Given the description of an element on the screen output the (x, y) to click on. 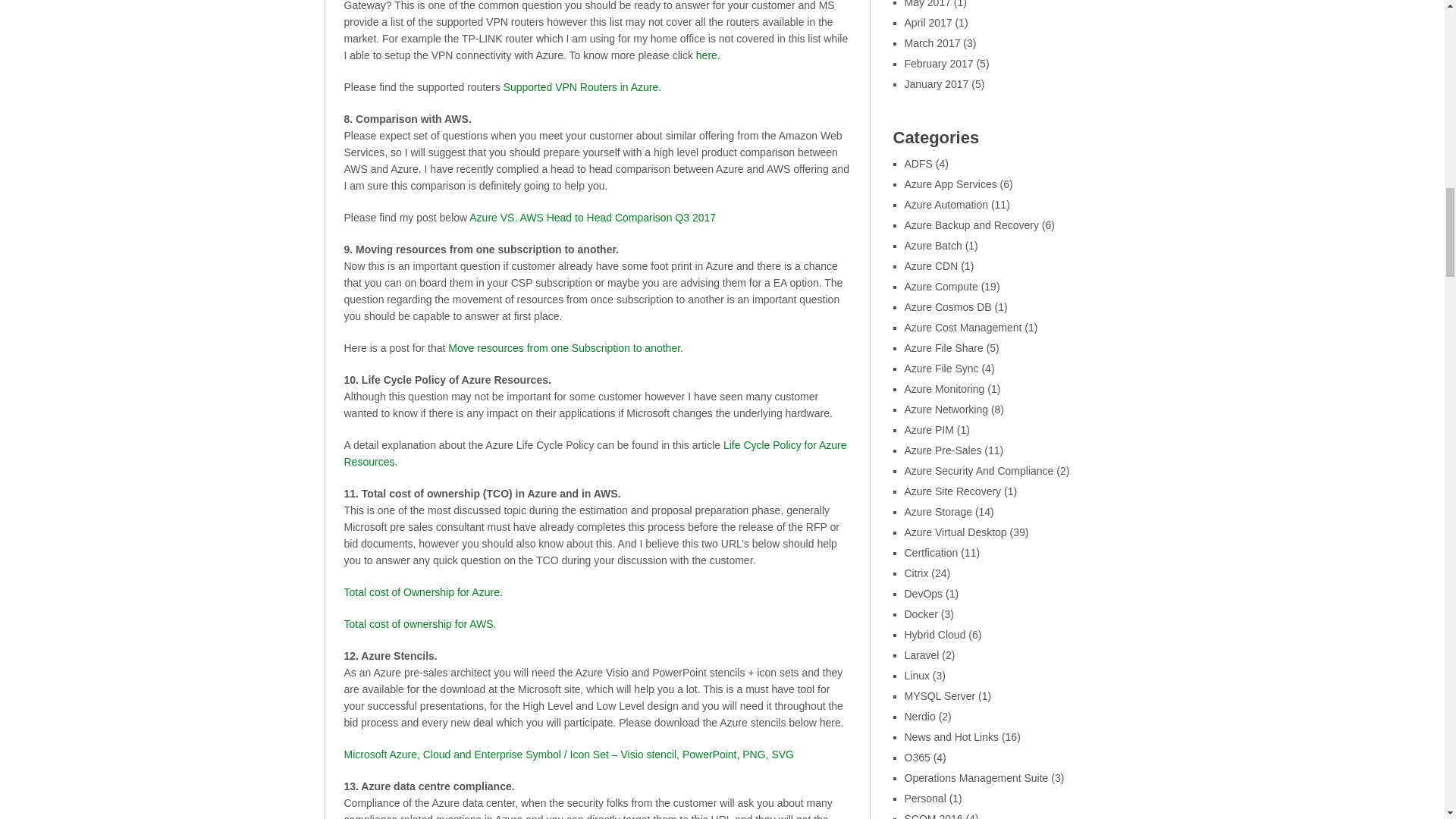
Move resources from one Subscription to another. (565, 347)
Total cost of ownership for AWS. (419, 623)
Azure VS. AWS Head to Head Comparison Q3 2017 (592, 217)
here (706, 55)
Total cost of Ownership for Azure. (422, 592)
Supported VPN Routers in Azure (581, 87)
Life Cycle Policy for Azure Resources. (595, 452)
